Given the description of an element on the screen output the (x, y) to click on. 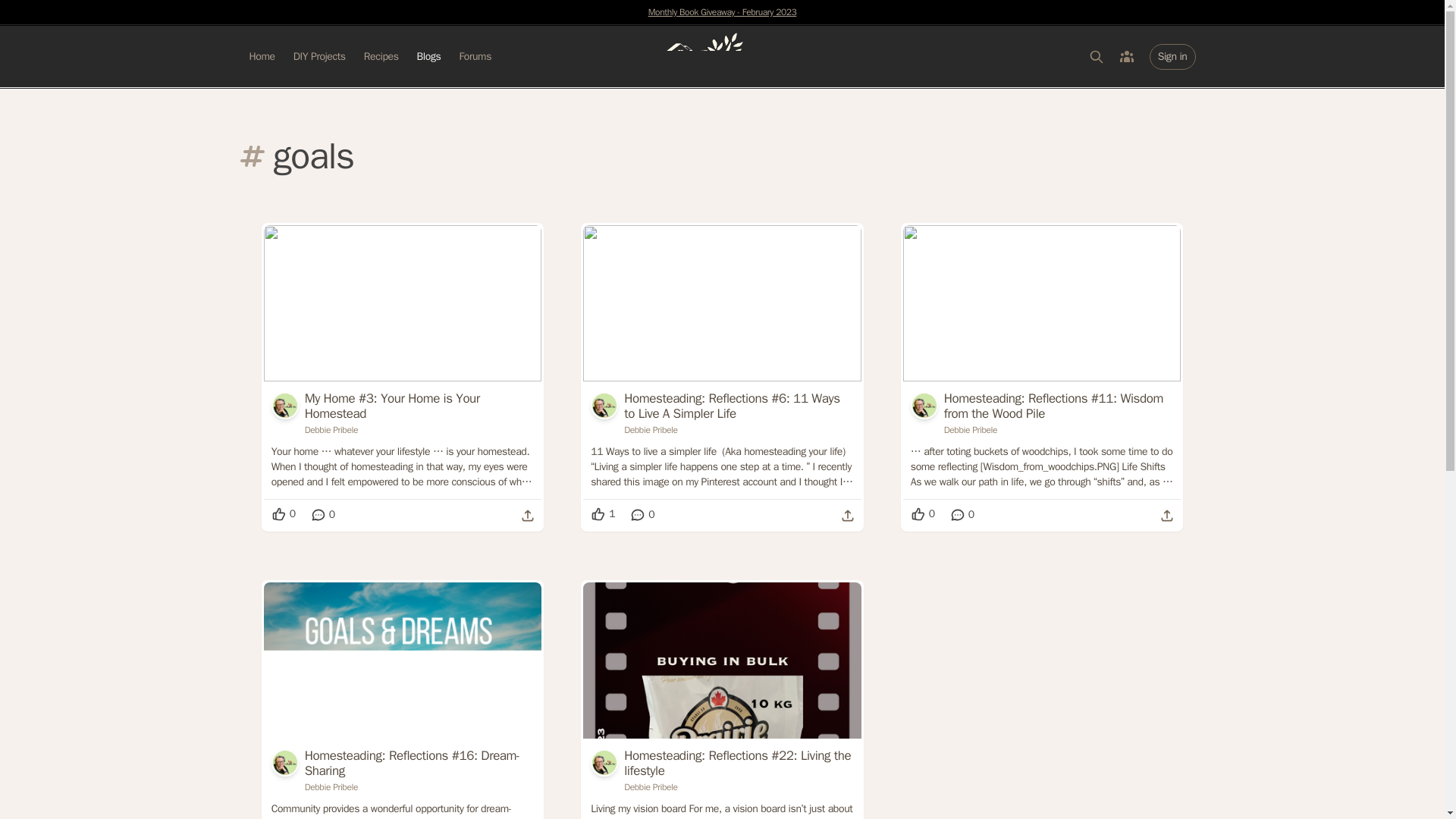
Forums (475, 56)
Debbie Pribele (419, 429)
0 (322, 514)
Recipes (381, 56)
Debbie Pribele (738, 429)
DIY Projects (320, 56)
Online members (1126, 56)
Debbie Pribele (1058, 429)
Blogs (428, 56)
Sign in (1172, 56)
